Given the description of an element on the screen output the (x, y) to click on. 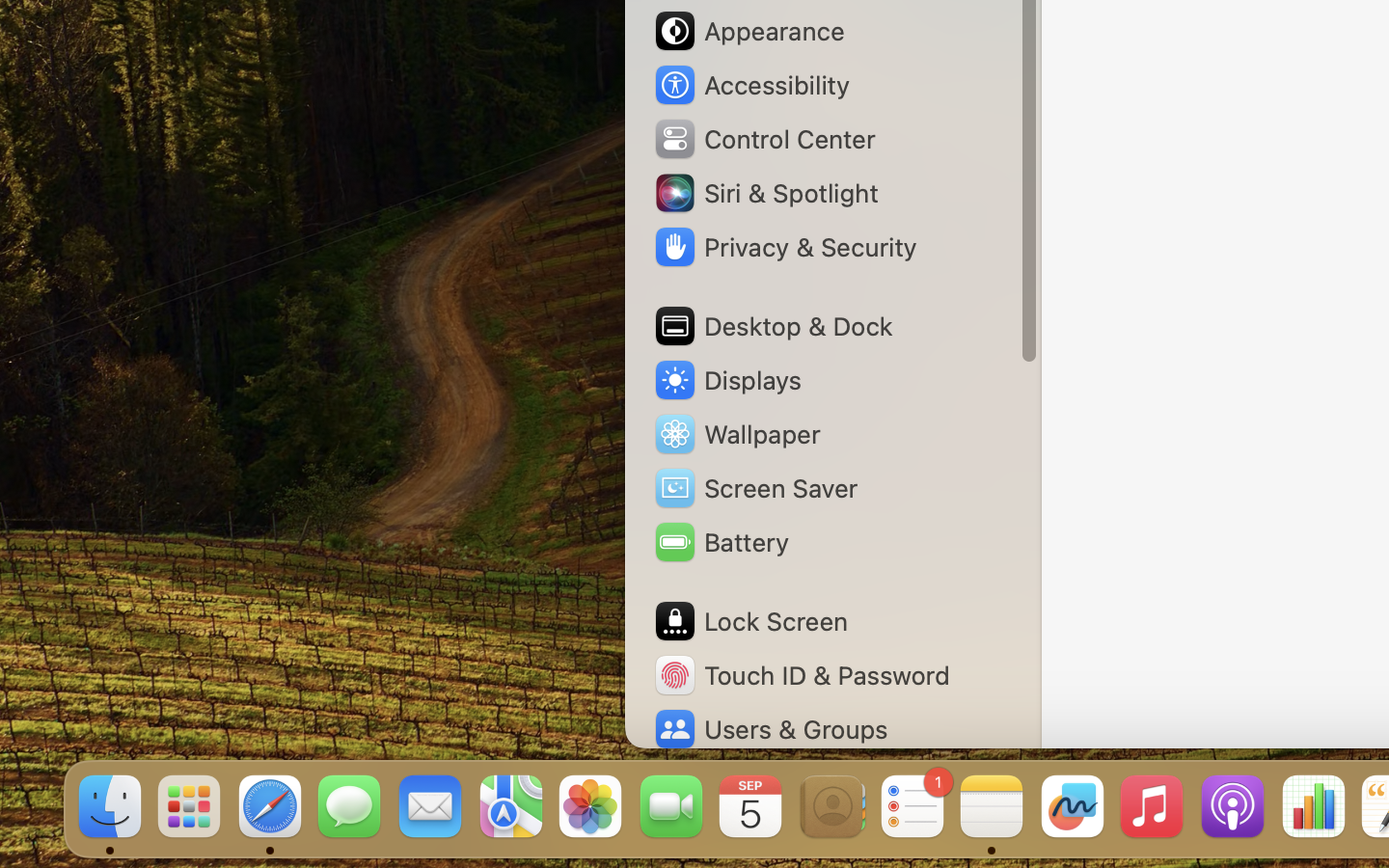
Control Center Element type: AXStaticText (763, 138)
Desktop & Dock Element type: AXStaticText (772, 325)
Siri & Spotlight Element type: AXStaticText (764, 192)
Lock Screen Element type: AXStaticText (750, 620)
Touch ID & Password Element type: AXStaticText (801, 674)
